Given the description of an element on the screen output the (x, y) to click on. 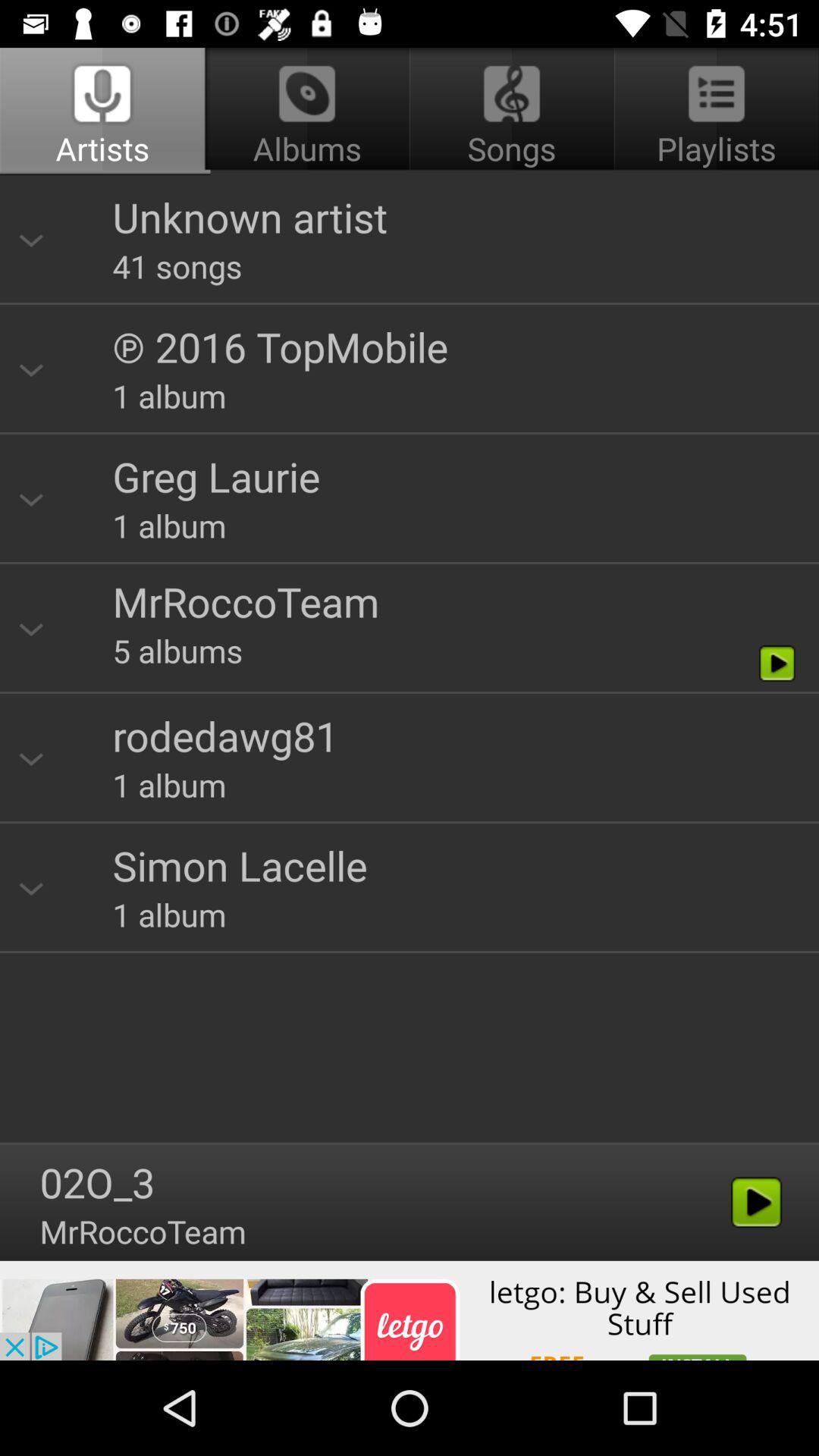
review results (409, 654)
